Given the description of an element on the screen output the (x, y) to click on. 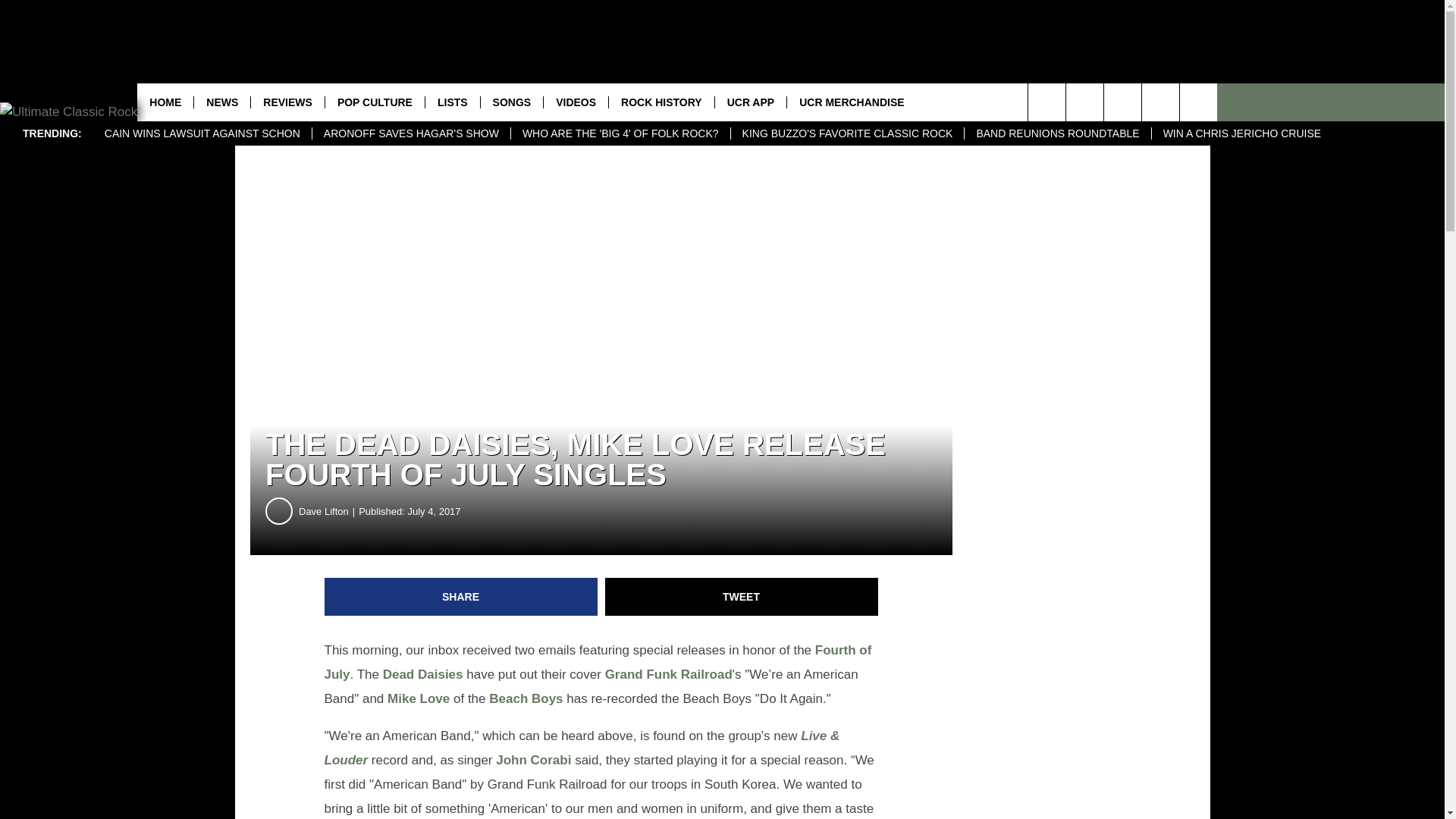
WHO ARE THE 'BIG 4' OF FOLK ROCK? (620, 133)
CAIN WINS LAWSUIT AGAINST SCHON (202, 133)
BAND REUNIONS ROUNDTABLE (1056, 133)
NEWS (221, 102)
VIDEOS (575, 102)
POP CULTURE (374, 102)
HOME (164, 102)
Fourth of July (598, 661)
UCR APP (750, 102)
Visit us on Youtube (1122, 102)
